Given the description of an element on the screen output the (x, y) to click on. 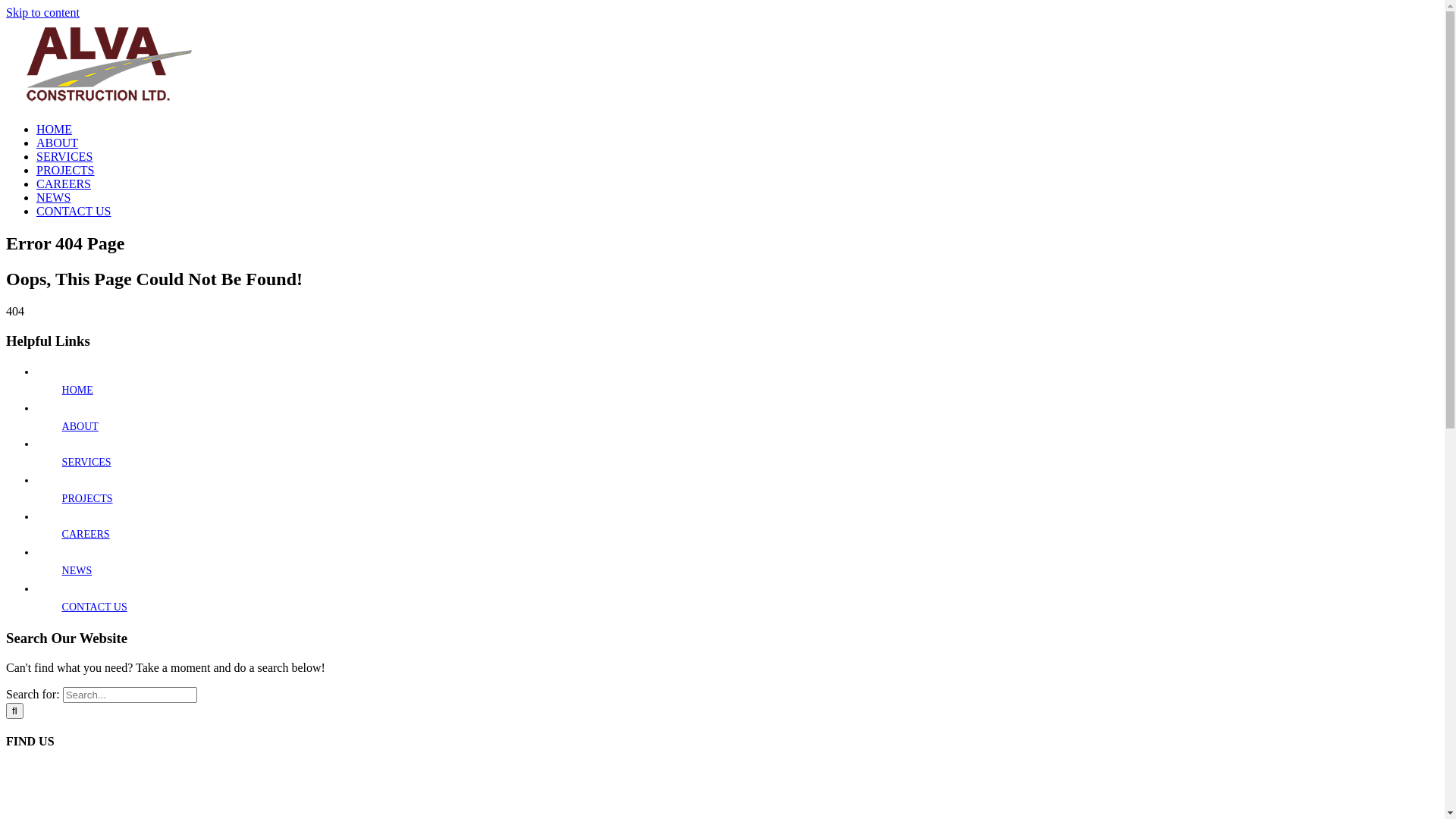
NEWS Element type: text (77, 570)
HOME Element type: text (62, 128)
CONTACT US Element type: text (73, 210)
PROJECTS Element type: text (73, 169)
SERVICES Element type: text (86, 461)
SERVICES Element type: text (72, 156)
PROJECTS Element type: text (87, 498)
ABOUT Element type: text (65, 142)
CAREERS Element type: text (72, 183)
CAREERS Element type: text (85, 533)
CONTACT US Element type: text (94, 606)
NEWS Element type: text (61, 197)
Skip to content Element type: text (42, 12)
ABOUT Element type: text (80, 426)
HOME Element type: text (77, 389)
